Given the description of an element on the screen output the (x, y) to click on. 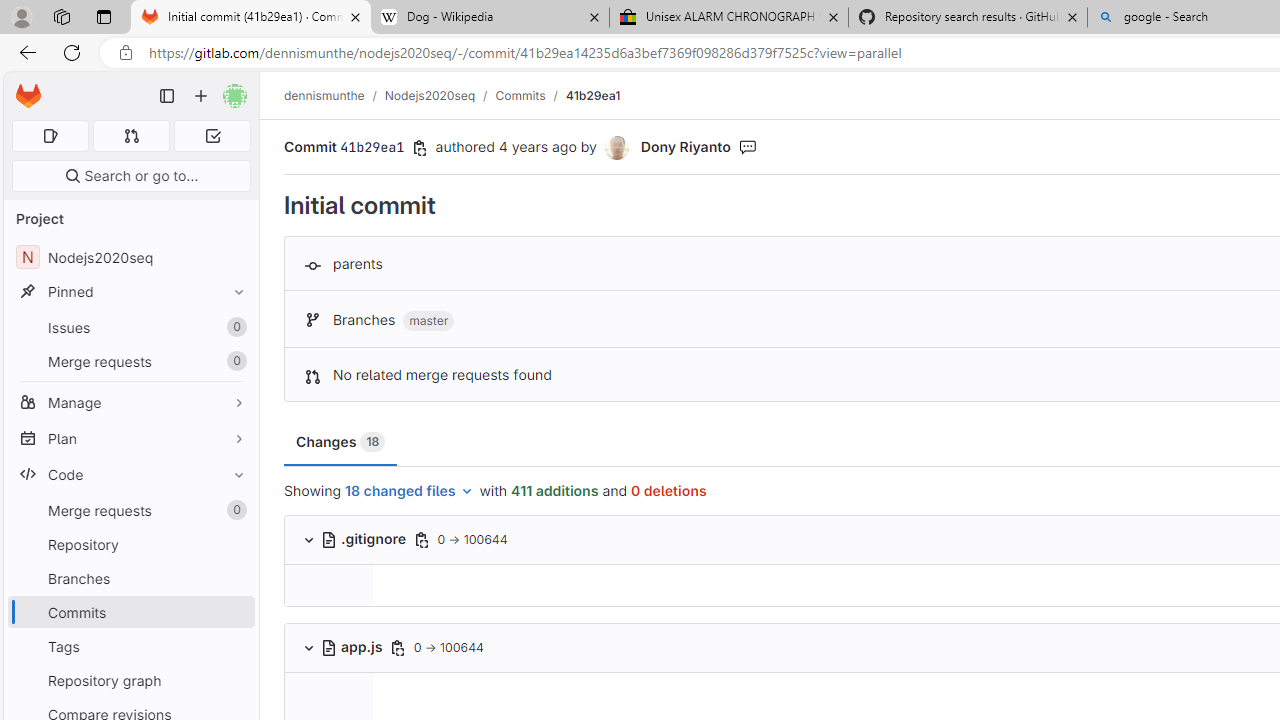
Manage (130, 402)
Pin Branches (234, 578)
Repository (130, 543)
Class: s16 (328, 647)
Tags (130, 646)
Issues0 (130, 327)
41b29ea1 (592, 95)
NNodejs2020seq (130, 257)
Commits (130, 612)
Class: old_line diff-line-num empty-cell (328, 701)
Nodejs2020seq (430, 95)
